Given the description of an element on the screen output the (x, y) to click on. 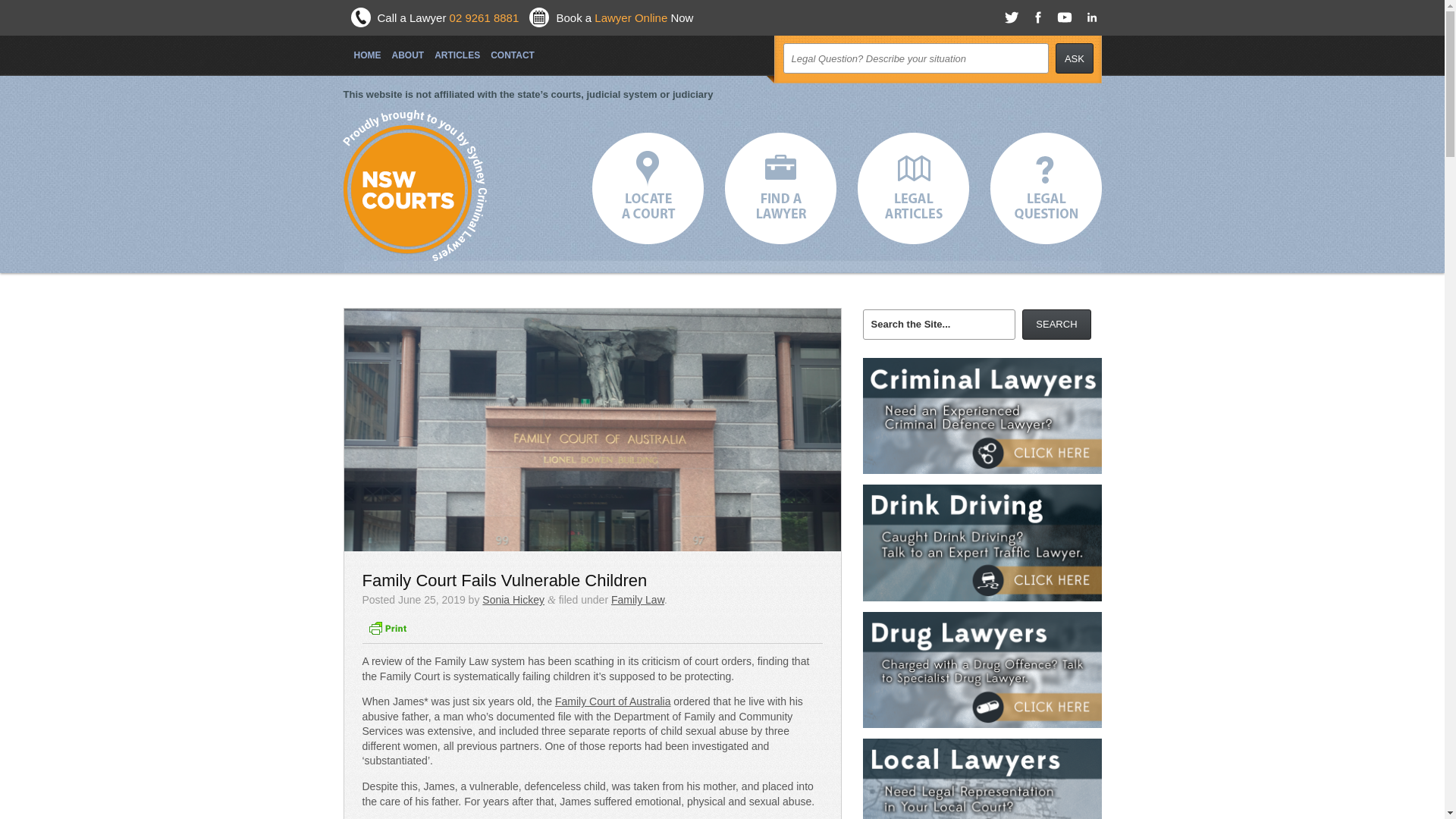
Family Court of Australia Element type: text (613, 701)
Family Law Element type: text (637, 599)
  Element type: text (1045, 187)
ABOUT Element type: text (401, 48)
Book a Lawyer Online Now Element type: text (624, 17)
  Element type: text (780, 187)
  Element type: text (647, 187)
  Element type: text (913, 187)
Search Element type: text (1056, 324)
HOME Element type: text (361, 48)
ARTICLES Element type: text (451, 48)
CONTACT Element type: text (507, 48)
Printer Friendly, PDF & Email Element type: hover (387, 633)
Call a Lawyer 02 9261 8881 Element type: text (448, 17)
Ask Element type: text (1074, 58)
NSW Courts Element type: text (407, 189)
Sonia Hickey Element type: text (513, 599)
